Given the description of an element on the screen output the (x, y) to click on. 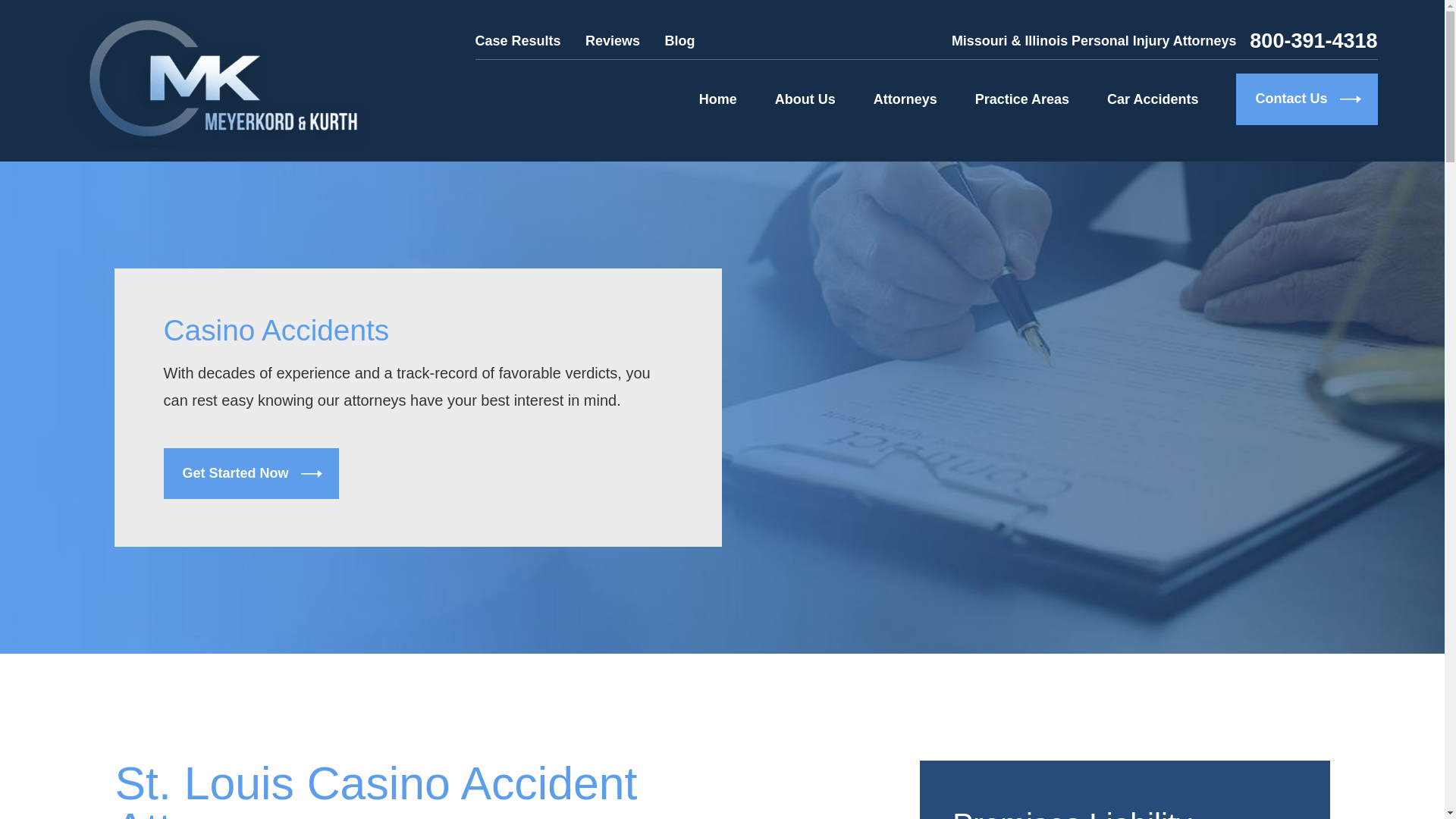
Practice Areas (1021, 99)
Blog (678, 40)
Reviews (612, 40)
About Us (804, 99)
Attorneys (905, 99)
Car Accidents (1152, 99)
800-391-4318 (1313, 41)
Home (217, 80)
Case Results (518, 40)
